Given the description of an element on the screen output the (x, y) to click on. 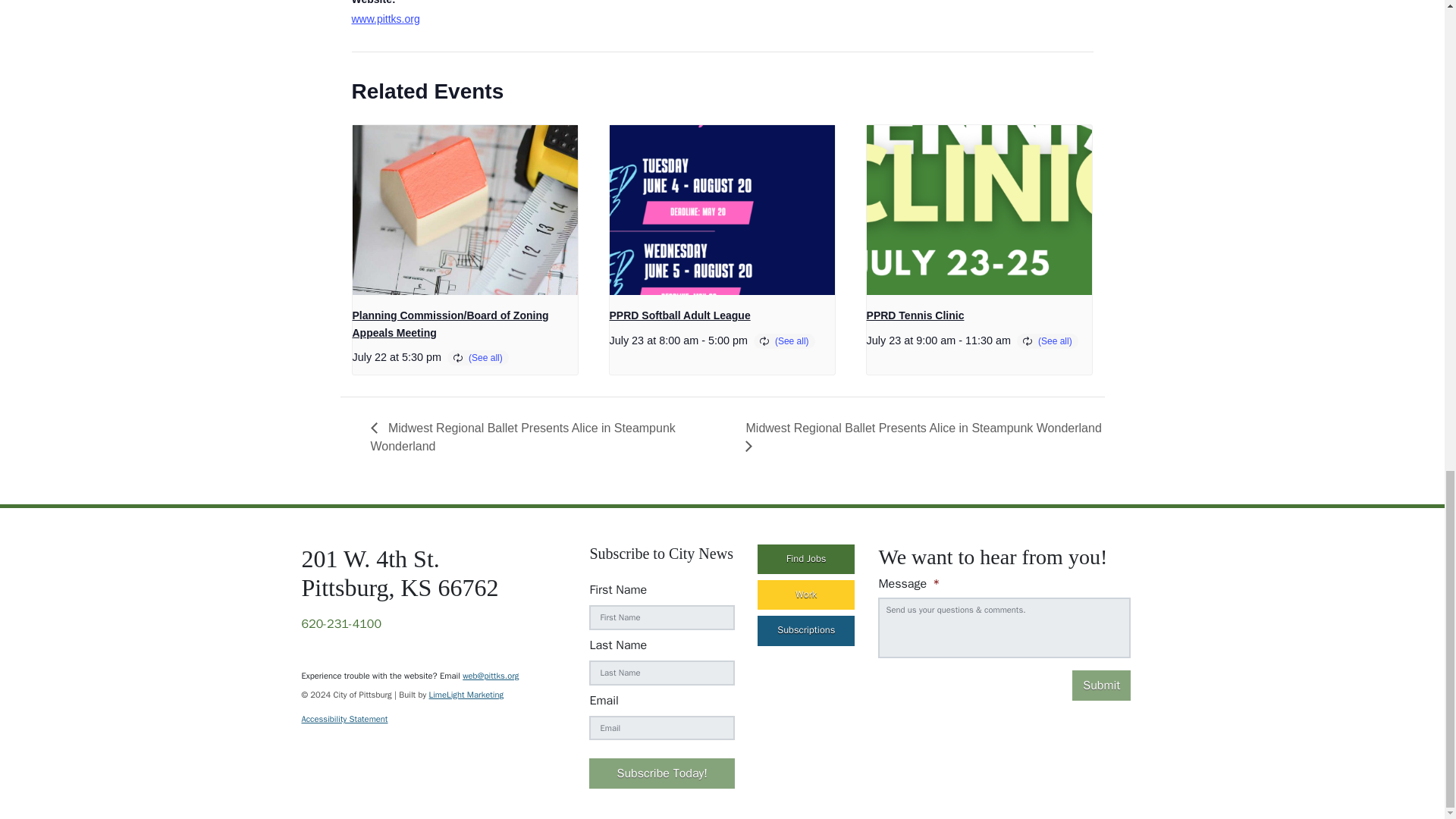
Submit (1101, 685)
